Given the description of an element on the screen output the (x, y) to click on. 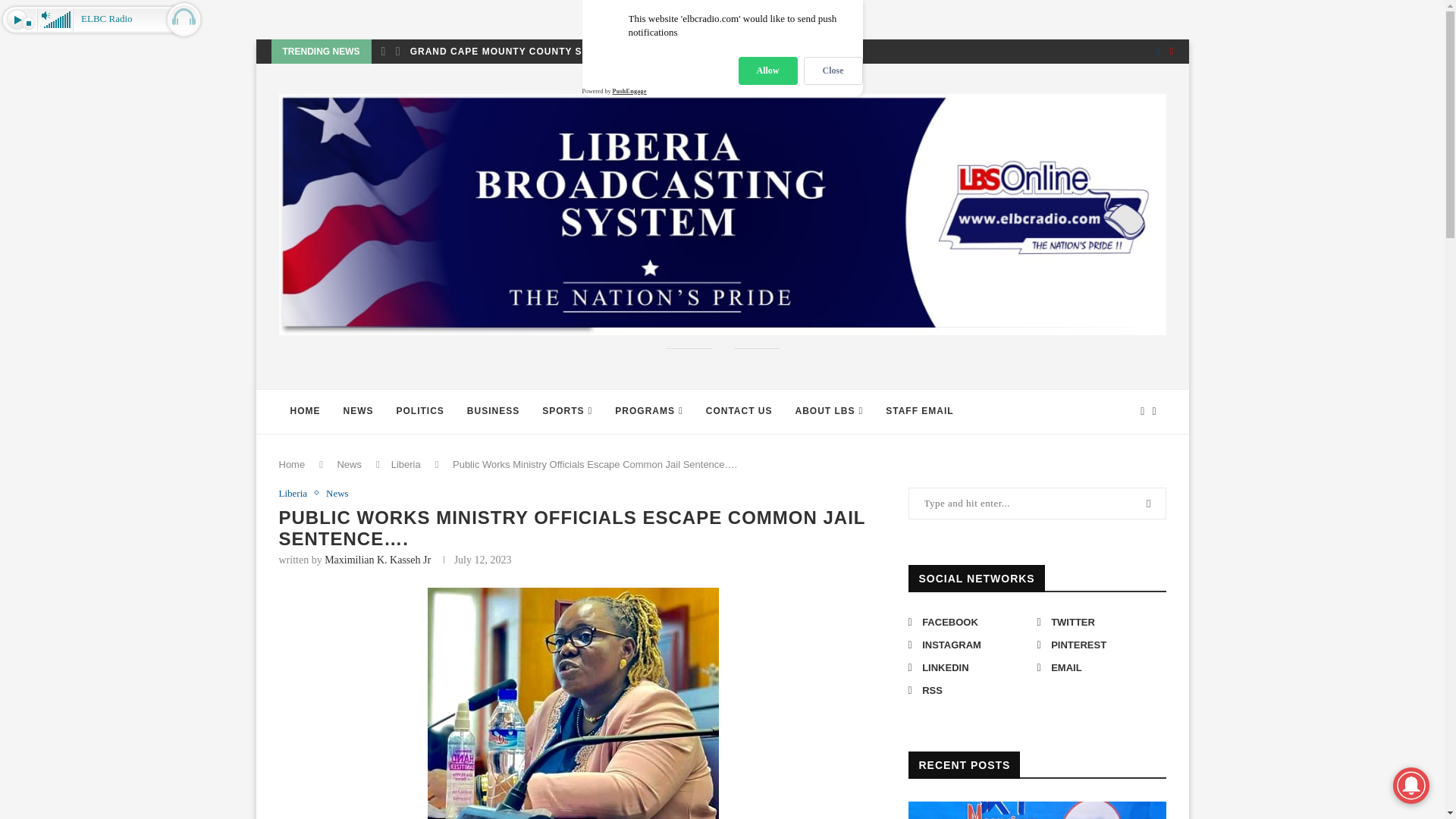
HOME (305, 411)
ABOUT LBS (829, 411)
GRAND CAPE MOUNTY COUNTY SENATOR ALARMS OVER WILDLIFE... (587, 51)
NEWS (358, 411)
PROGRAMS (649, 411)
POLITICS (420, 411)
SPORTS (567, 411)
BUSINESS (493, 411)
CONTACT US (739, 411)
rcc (574, 702)
